Given the description of an element on the screen output the (x, y) to click on. 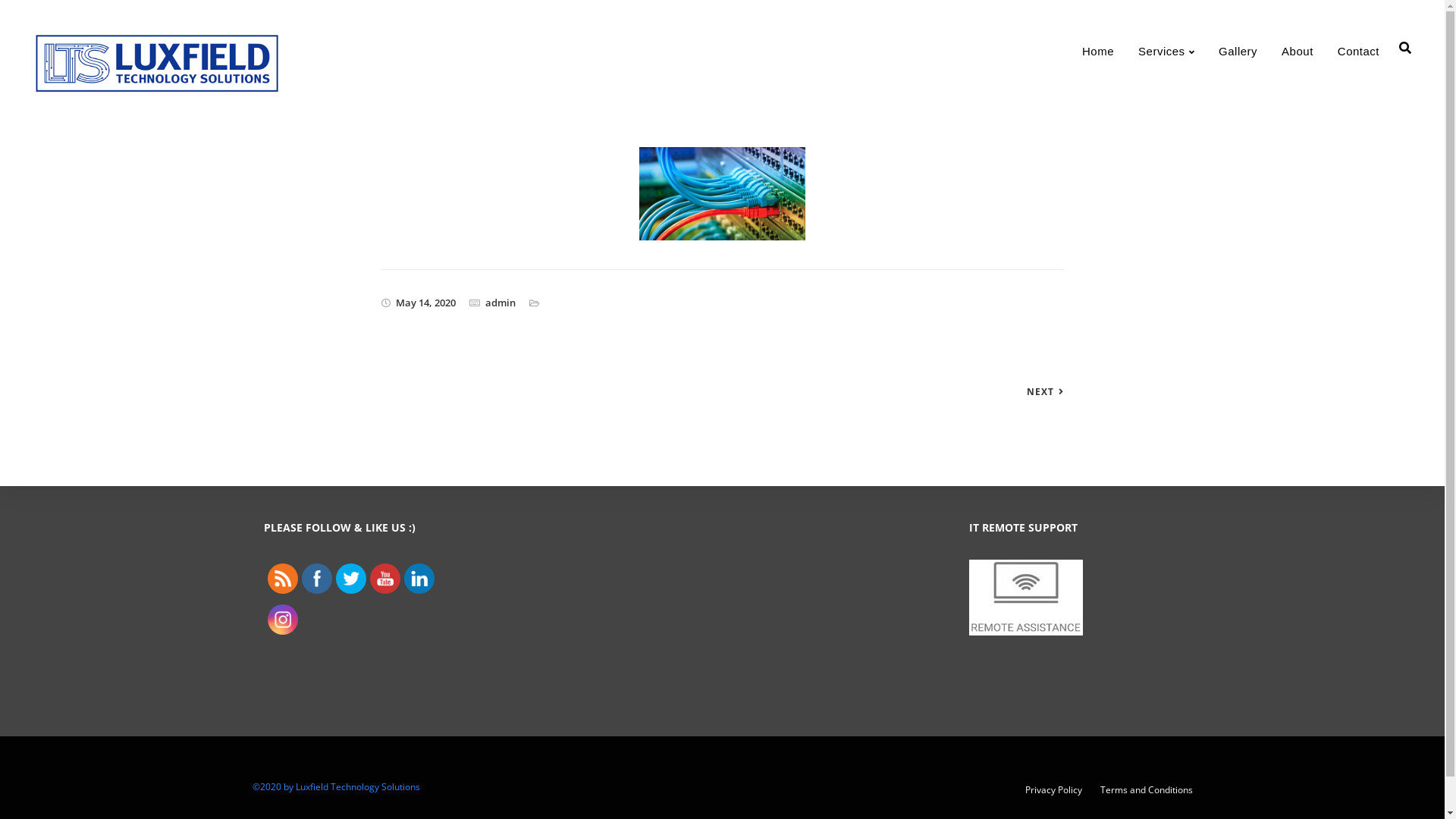
Facebook Element type: hover (315, 578)
Instagram Element type: hover (282, 619)
Home Element type: text (1098, 50)
network cable with high tech technology color background Element type: hover (722, 193)
Twitter Element type: hover (350, 578)
About Element type: text (1297, 50)
Click for Support Element type: hover (1025, 630)
Services Element type: text (1166, 50)
Privacy Policy Element type: text (1053, 789)
Contact Element type: text (1358, 50)
admin Element type: text (500, 302)
NEXT Element type: text (1044, 391)
Gallery Element type: text (1237, 50)
RSS Element type: hover (282, 578)
Terms and Conditions Element type: text (1145, 789)
YouTube Element type: hover (384, 578)
LinkedIn Element type: hover (419, 578)
